Given the description of an element on the screen output the (x, y) to click on. 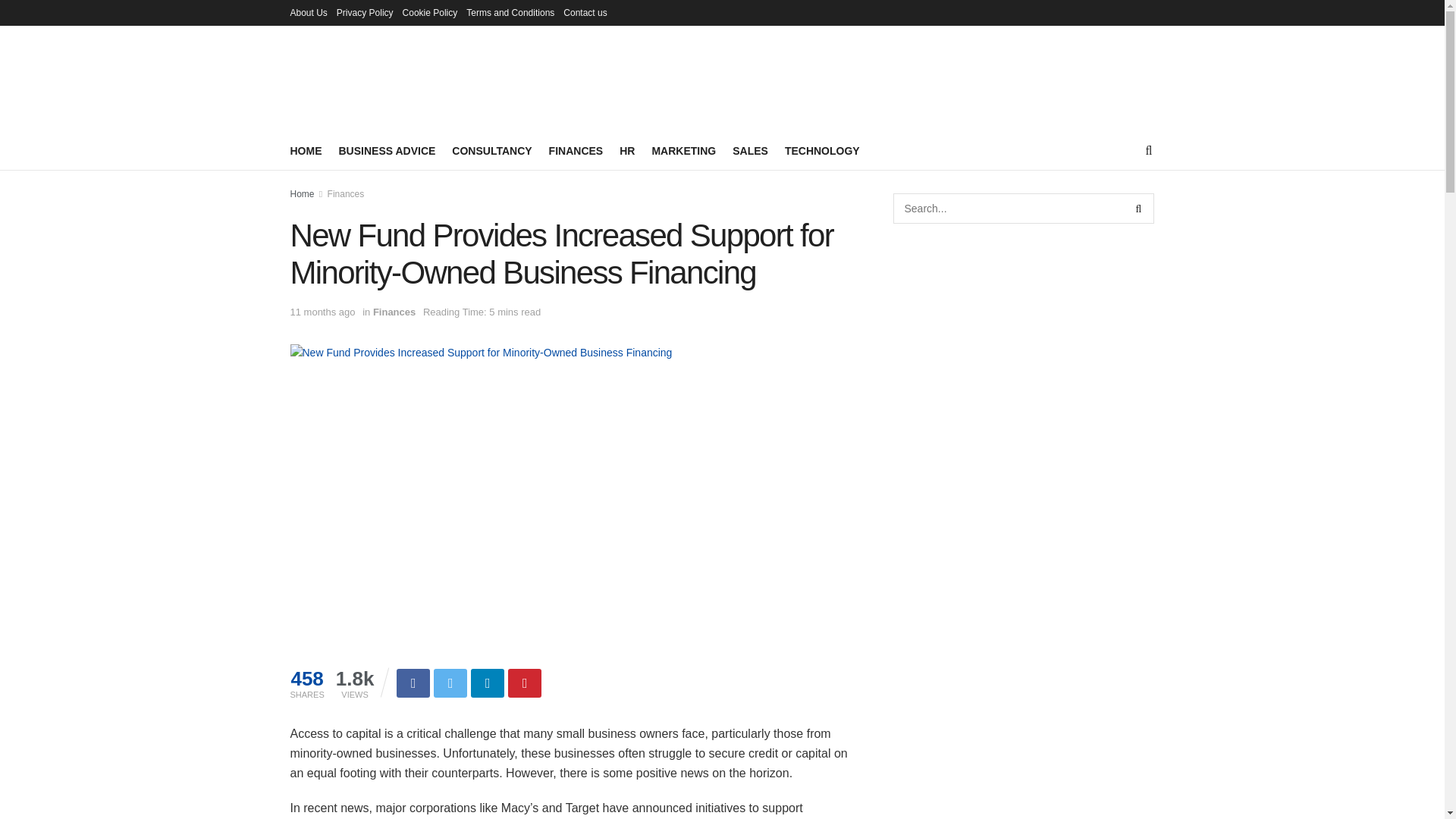
BUSINESS ADVICE (386, 150)
Terms and Conditions (509, 12)
Privacy Policy (364, 12)
SALES (750, 150)
TECHNOLOGY (822, 150)
Finances (346, 194)
business 5475664 960 720 - Business Help and Advice (480, 352)
Home (301, 194)
HOME (305, 150)
Contact us (585, 12)
CONSULTANCY (491, 150)
Finances (393, 311)
FINANCES (576, 150)
Cookie Policy (430, 12)
About Us (307, 12)
